Given the description of an element on the screen output the (x, y) to click on. 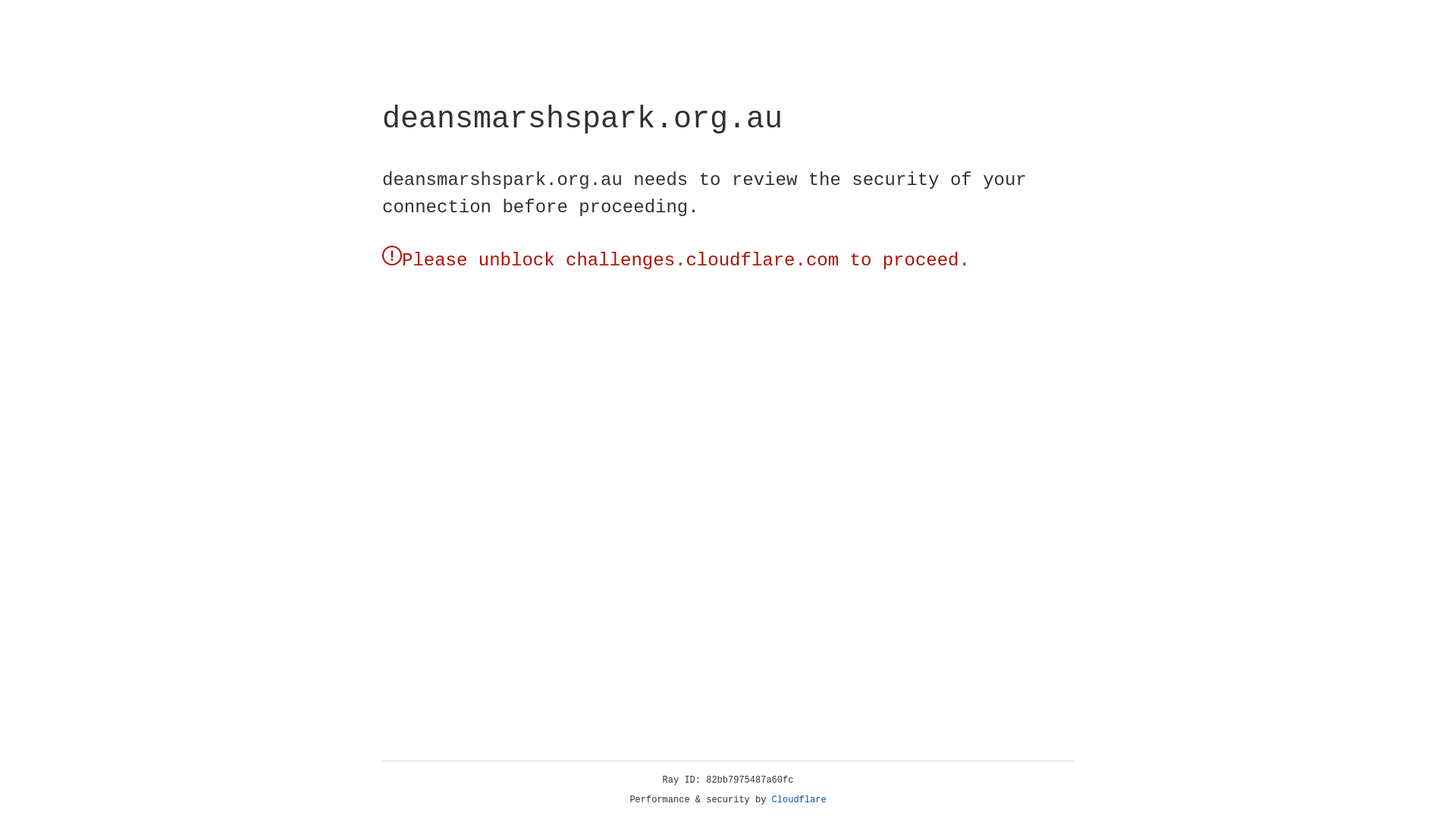
Cloudflare Element type: text (798, 799)
